Given the description of an element on the screen output the (x, y) to click on. 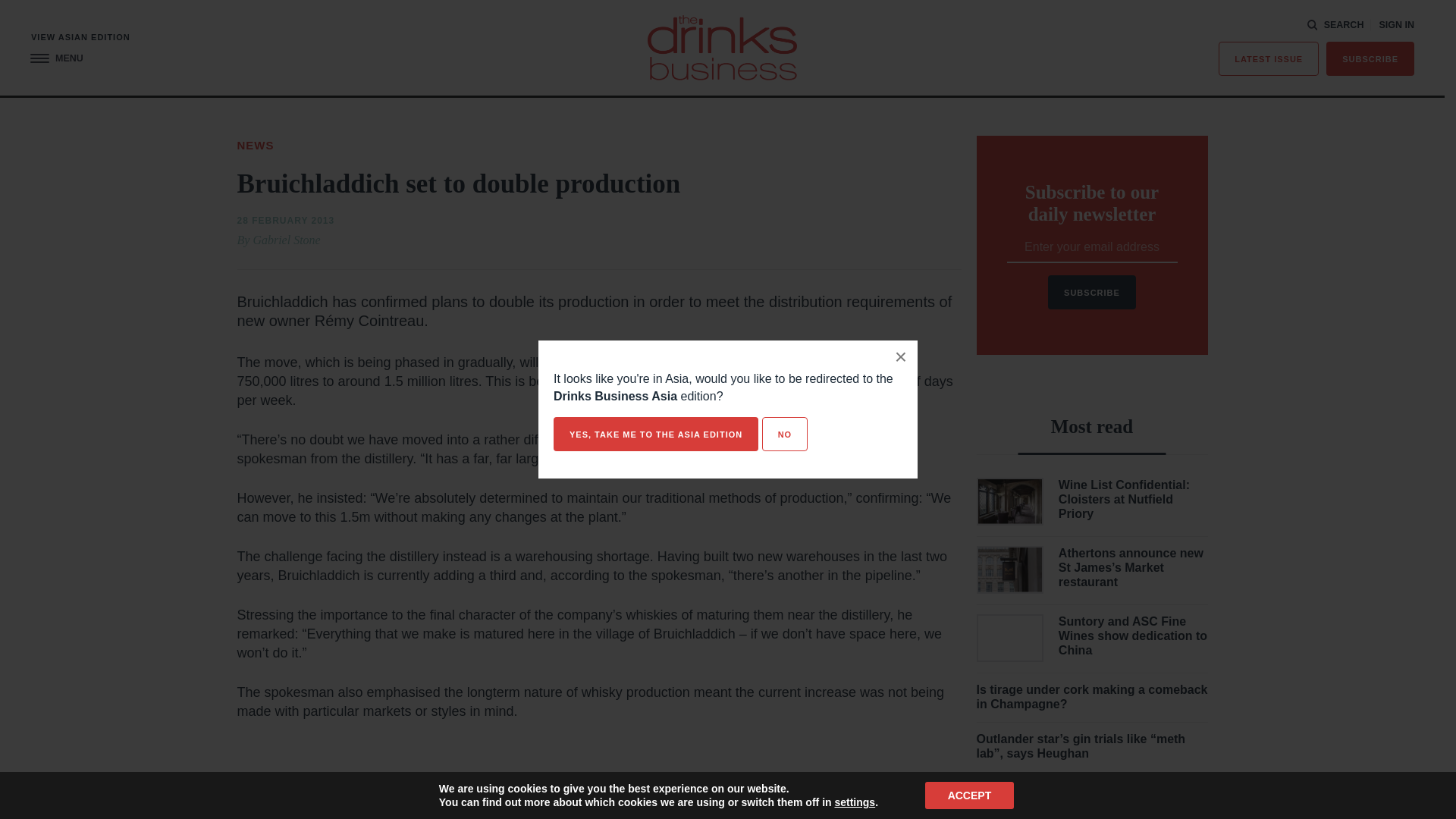
YES, TAKE ME TO THE ASIA EDITION (655, 433)
The Drinks Business (721, 47)
NO (784, 433)
SUBSCRIBE (1369, 58)
LATEST ISSUE (1268, 58)
SIGN IN (1395, 25)
VIEW ASIAN EDITION (80, 37)
